Given the description of an element on the screen output the (x, y) to click on. 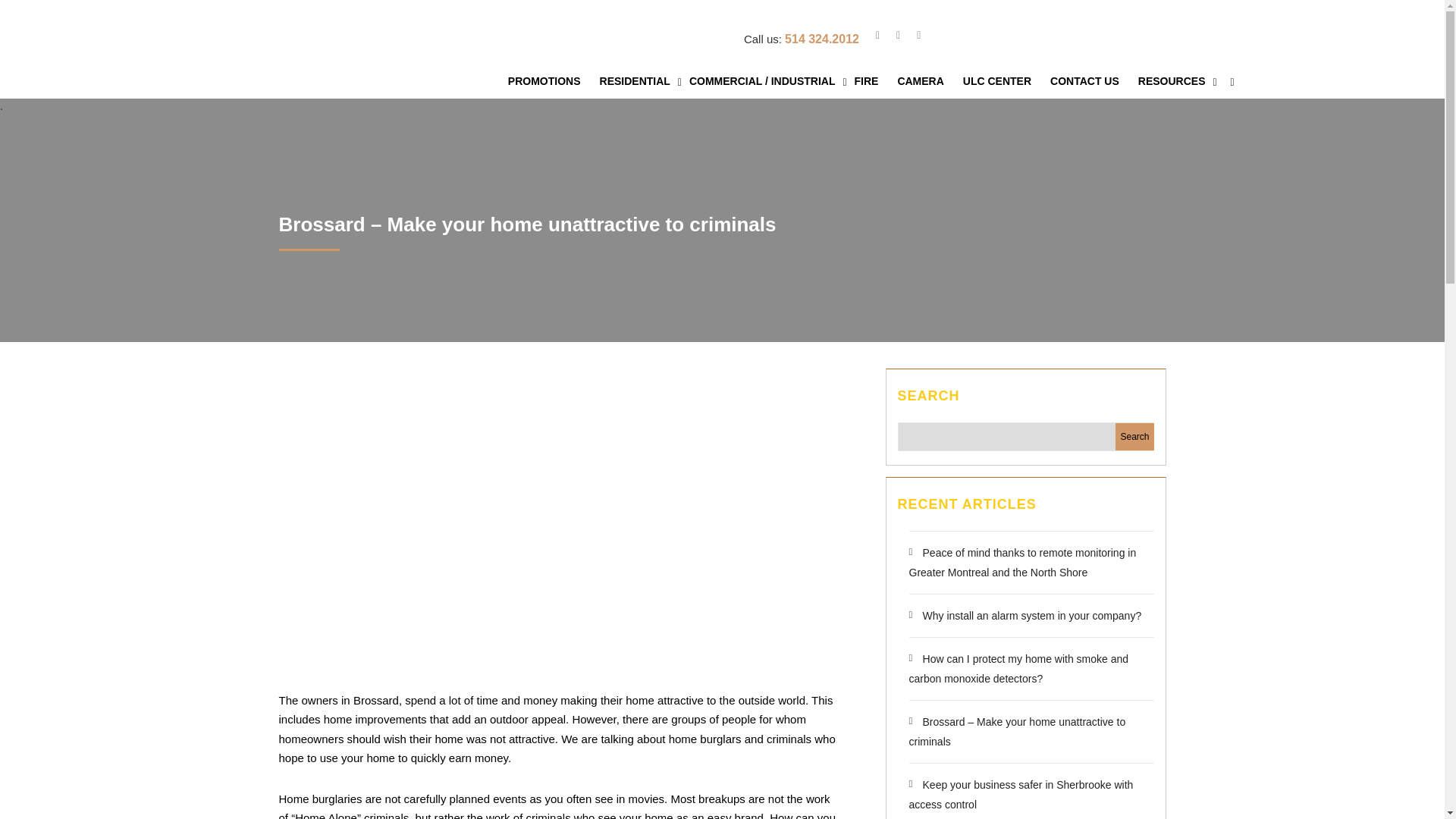
Search (1134, 436)
Keep your business safer in Sherbrooke with access control (1021, 794)
RESIDENTIAL (640, 81)
Why install an alarm system in your company? (1024, 615)
FIRE (871, 81)
Alarme Provinciale (320, 56)
Search (1134, 436)
CONTACT US (1090, 81)
CAMERA (925, 81)
RESOURCES (1177, 81)
PROMOTIONS (549, 81)
ULC CENTER (1002, 81)
